Given the description of an element on the screen output the (x, y) to click on. 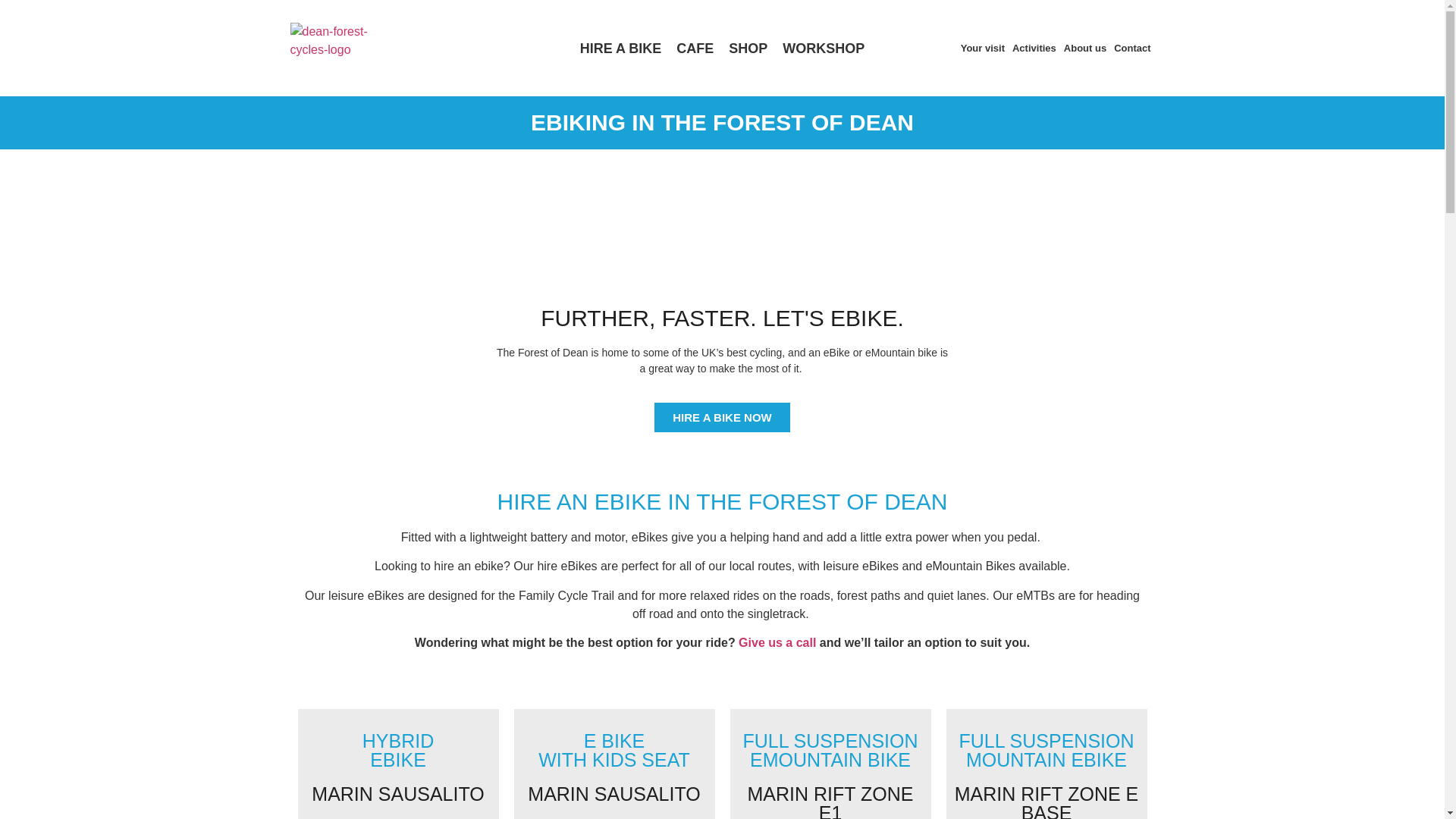
Your visit (982, 47)
Activities (1034, 47)
CAFE (694, 47)
WORKSHOP (822, 47)
About us (1084, 47)
Contact (1131, 47)
HIRE A BIKE (620, 47)
dean-forest-cycles-logo (346, 40)
SHOP (748, 47)
